Given the description of an element on the screen output the (x, y) to click on. 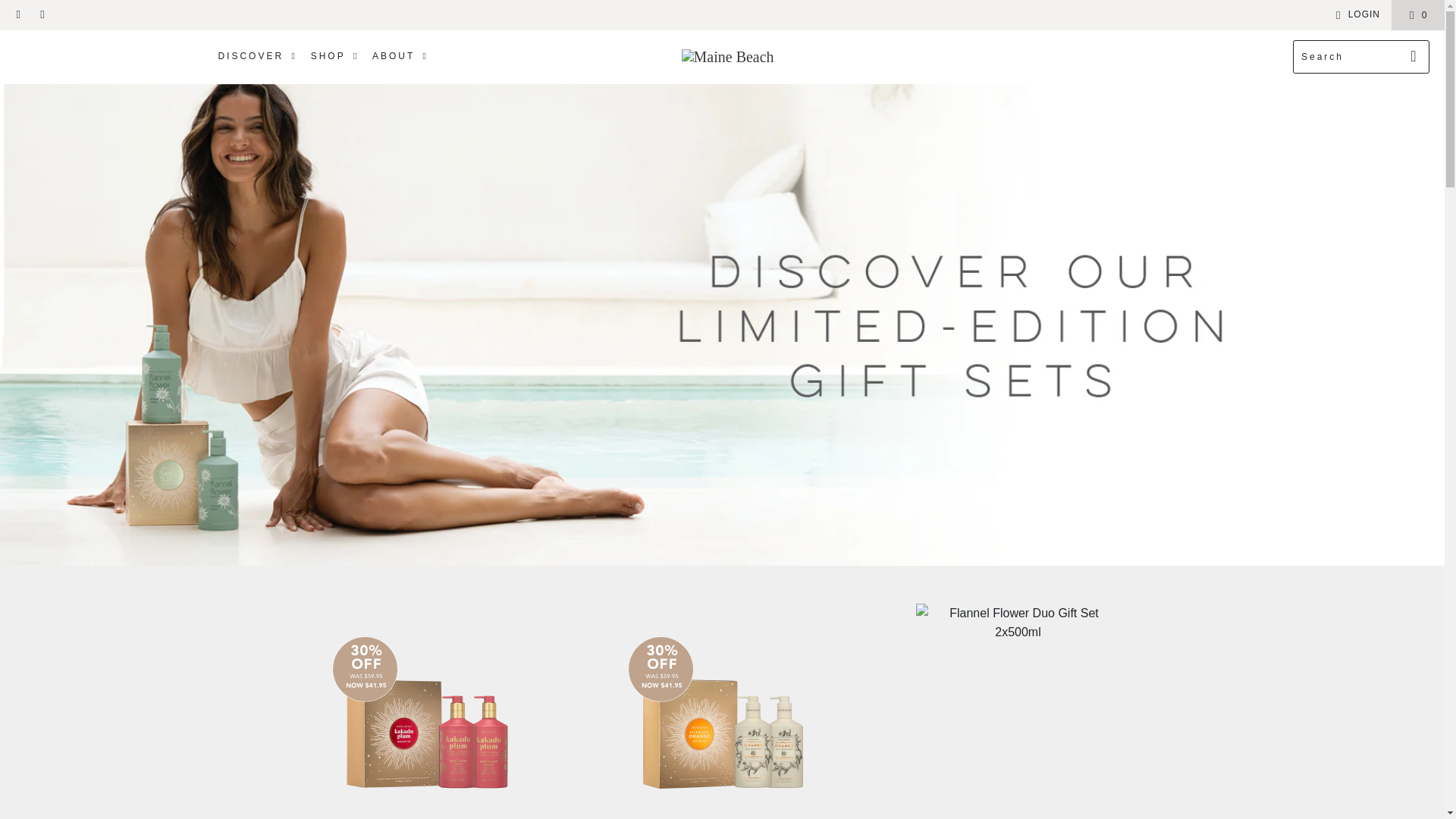
Maine Beach on Instagram (41, 14)
Maine Beach (727, 56)
Maine Beach on Facebook (17, 14)
My Account  (1355, 14)
